Given the description of an element on the screen output the (x, y) to click on. 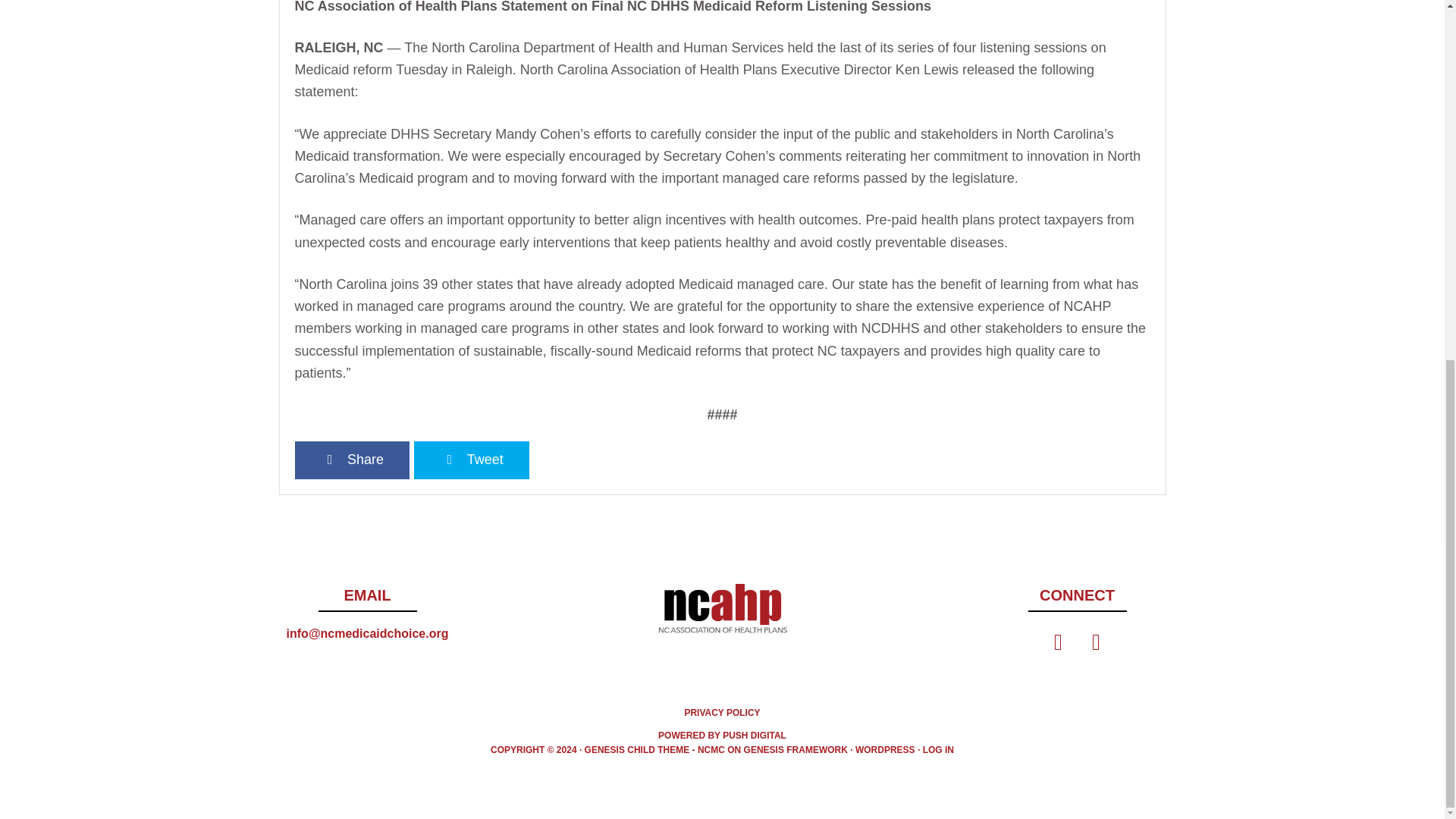
GENESIS CHILD THEME - NCMC (655, 749)
PUSH DIGITAL (754, 735)
Share (351, 459)
LOG IN (938, 749)
GENESIS FRAMEWORK (795, 749)
PRIVACY POLICY (722, 712)
Tweet (471, 459)
WORDPRESS (885, 749)
